Given the description of an element on the screen output the (x, y) to click on. 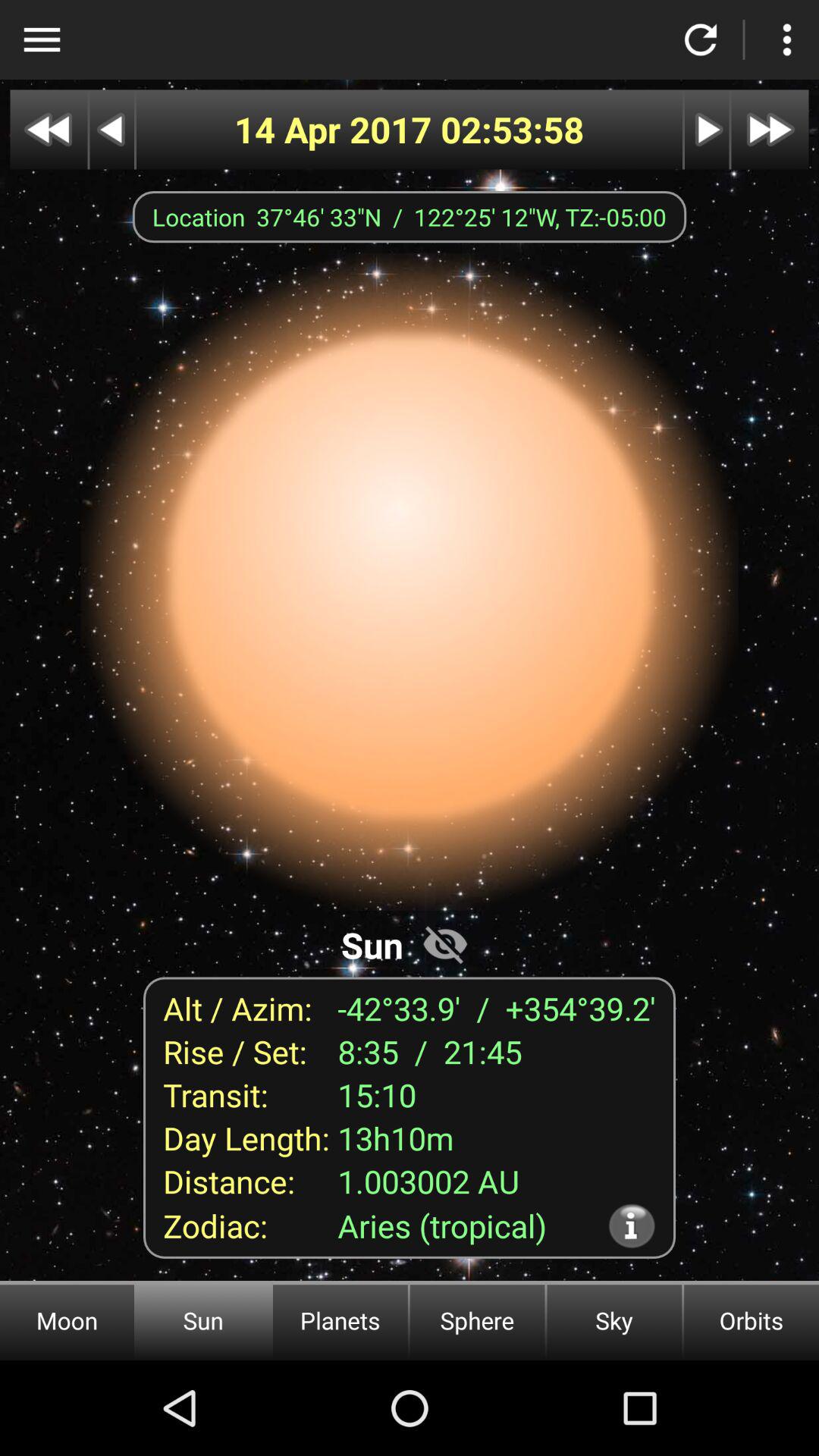
go to the icon i beside aries tropical (632, 1225)
